Given the description of an element on the screen output the (x, y) to click on. 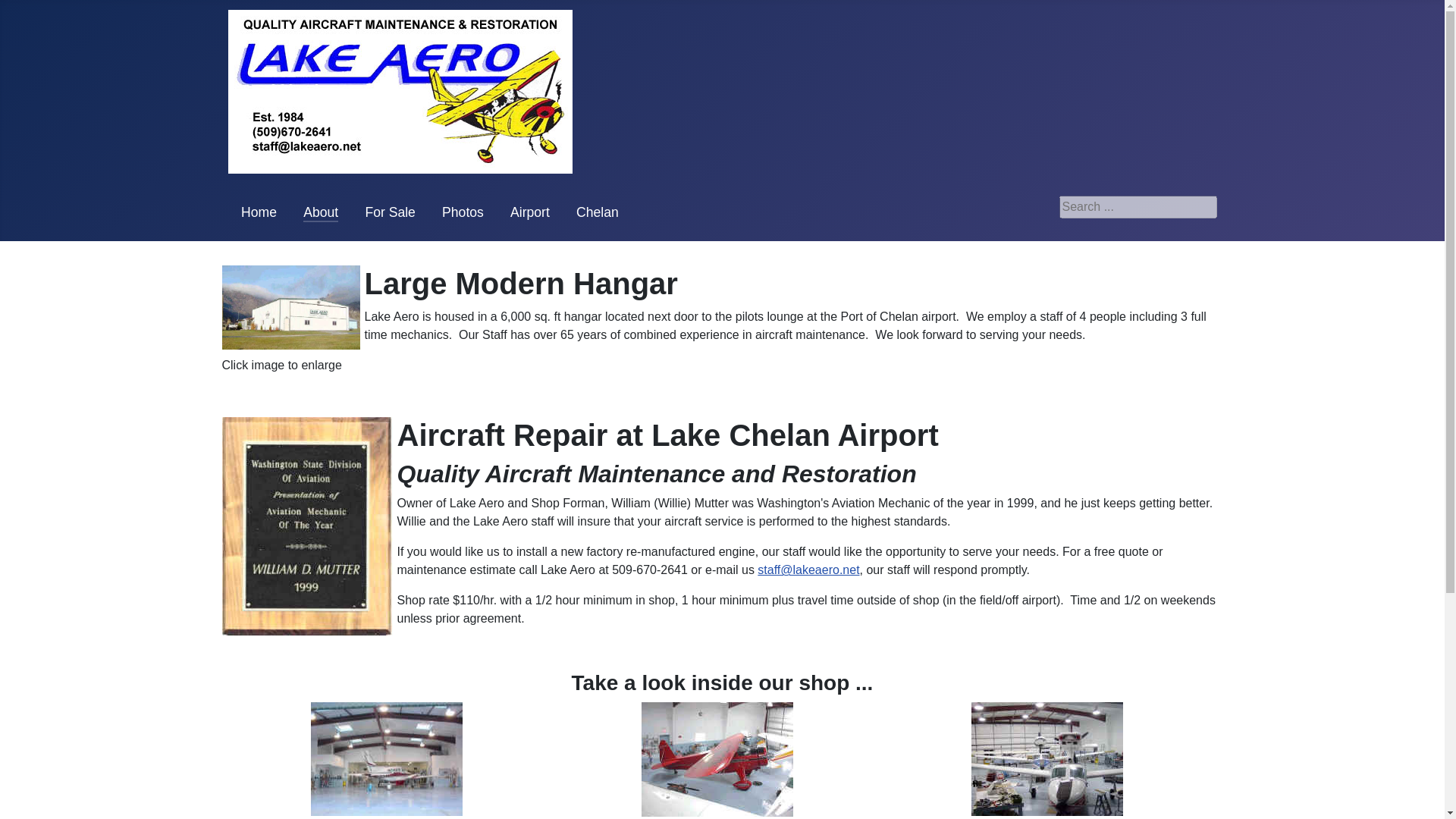
Chelan (597, 211)
Airport (530, 211)
For Sale (389, 211)
Photos (462, 211)
Home (258, 211)
About (319, 211)
